Given the description of an element on the screen output the (x, y) to click on. 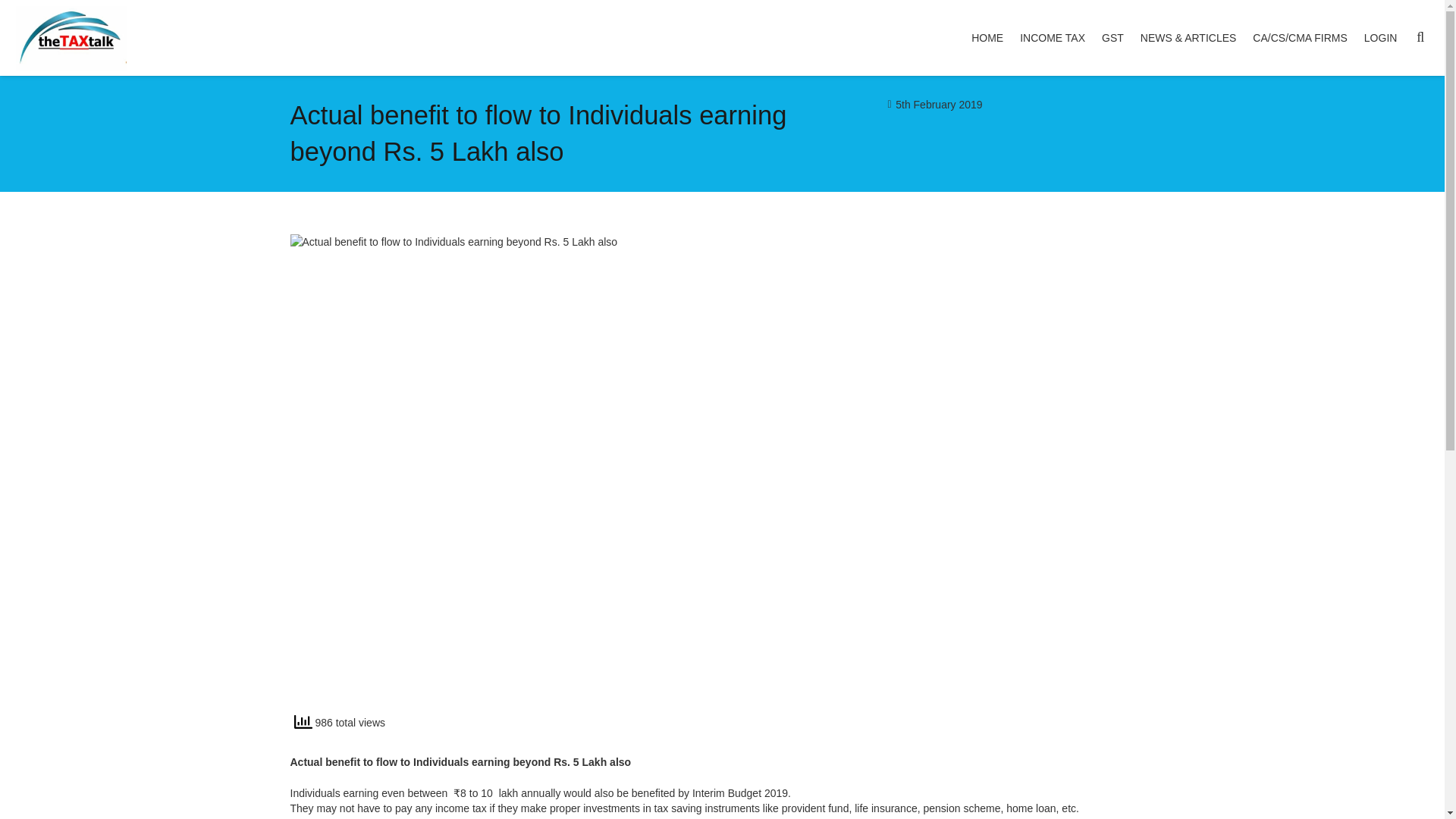
INCOME TAX (1052, 38)
Advertisement (946, 599)
